Given the description of an element on the screen output the (x, y) to click on. 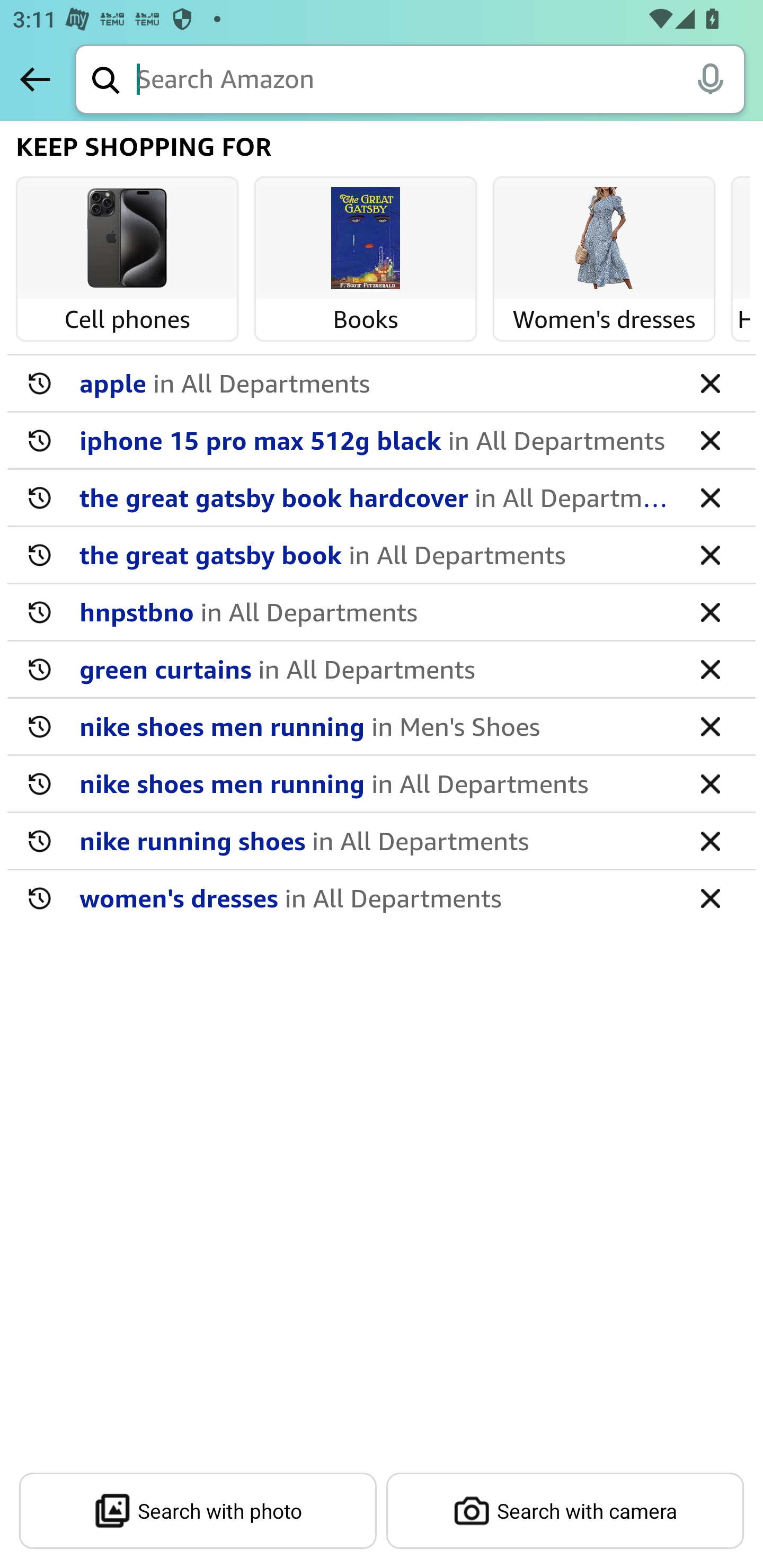
Search Amazon (440, 80)
Back (35, 78)
Alexa (710, 78)
Cell phones (126, 238)
Books (365, 238)
Women's dresses (603, 238)
apple delete (381, 383)
apple (374, 382)
delete (710, 382)
iphone 15 pro max 512g black delete (381, 440)
iphone 15 pro max 512g black (374, 439)
delete (710, 439)
the great gatsby book hardcover delete (381, 497)
the great gatsby book hardcover (374, 496)
delete (710, 496)
the great gatsby book delete (381, 554)
the great gatsby book (374, 554)
delete (710, 554)
hnpstbno delete (381, 612)
hnpstbno (374, 611)
delete (710, 611)
green curtains delete (381, 669)
green curtains (374, 668)
delete (710, 668)
nike shoes men running delete (381, 726)
nike shoes men running (374, 725)
delete (710, 725)
nike shoes men running delete (381, 783)
nike shoes men running (374, 783)
delete (710, 783)
nike running shoes delete (381, 841)
nike running shoes (374, 840)
delete (710, 840)
women's dresses delete (381, 897)
women's dresses (374, 897)
delete (710, 897)
Search with photo (197, 1510)
Search with camera (564, 1510)
